Given the description of an element on the screen output the (x, y) to click on. 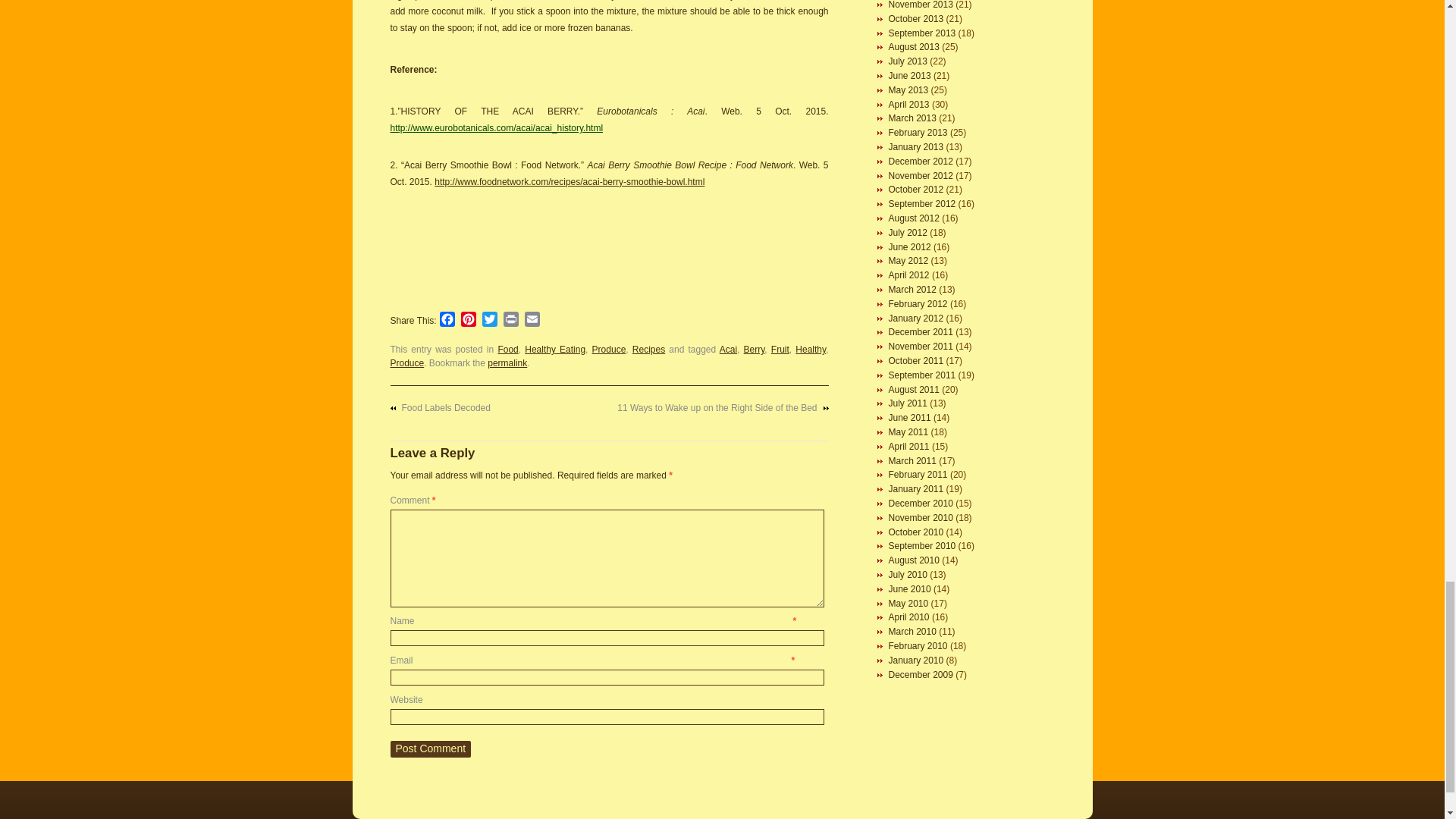
Healthy Eating (554, 348)
Twitter (489, 321)
Produce (609, 348)
Pinterest (468, 321)
Email (532, 321)
Facebook (447, 321)
Twitter (489, 321)
Facebook (447, 321)
Print (510, 321)
Food (507, 348)
Post Comment (430, 749)
Pinterest (468, 321)
Email (532, 321)
Permalink to Get to Know the Acai Berry (507, 362)
Print (510, 321)
